Given the description of an element on the screen output the (x, y) to click on. 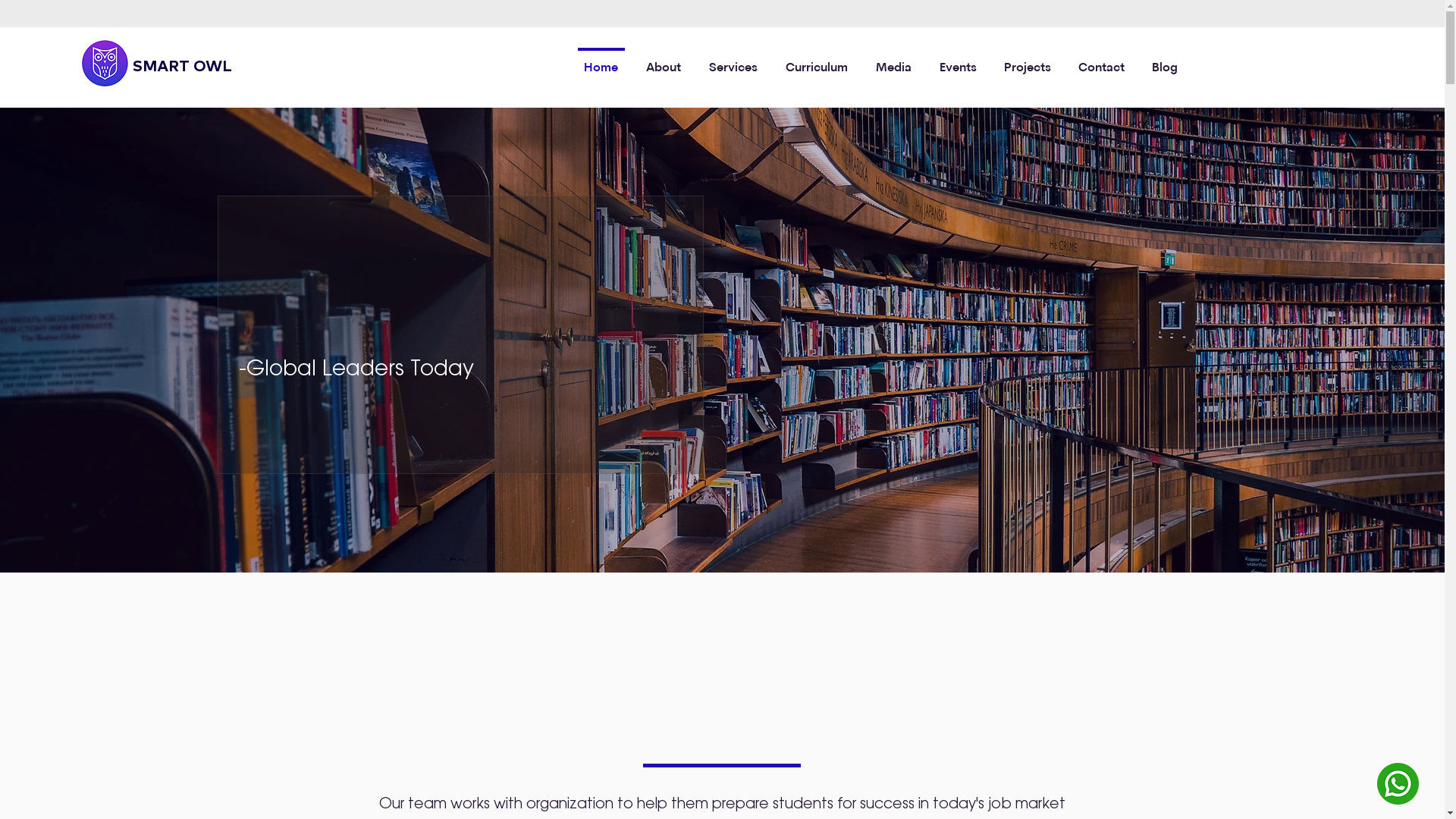
Home Element type: text (601, 61)
About Element type: text (663, 61)
SMART OWL Element type: text (182, 64)
Media Element type: text (893, 61)
Services Element type: text (733, 61)
Events Element type: text (957, 61)
Blog Element type: text (1164, 61)
Contact Element type: text (1101, 61)
Projects Element type: text (1027, 61)
Curriculum Element type: text (816, 61)
